Given the description of an element on the screen output the (x, y) to click on. 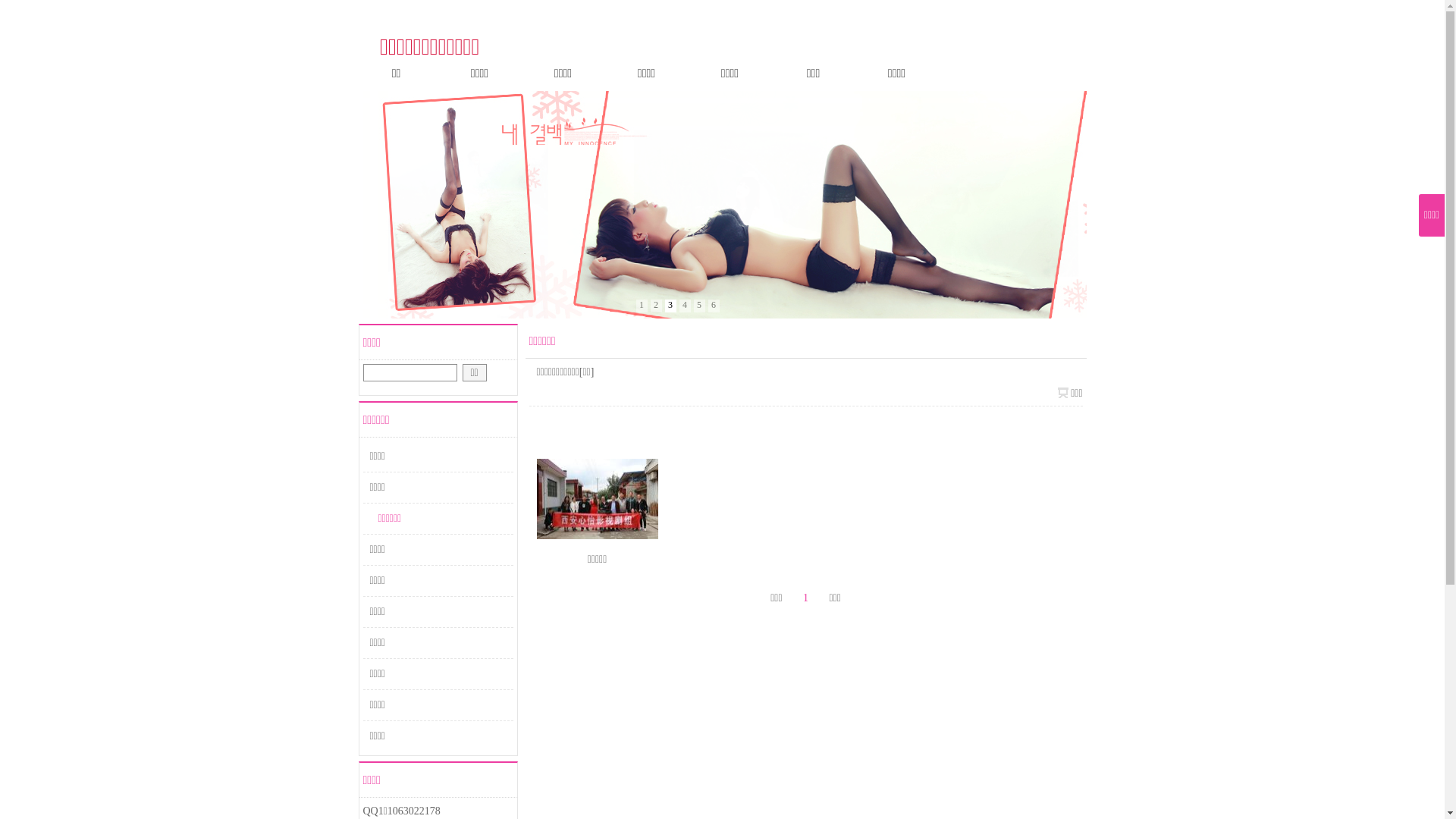
4 Element type: text (684, 305)
5 Element type: text (698, 305)
1 Element type: text (640, 305)
3 Element type: text (669, 305)
6 Element type: text (713, 305)
2 Element type: text (656, 305)
